Given the description of an element on the screen output the (x, y) to click on. 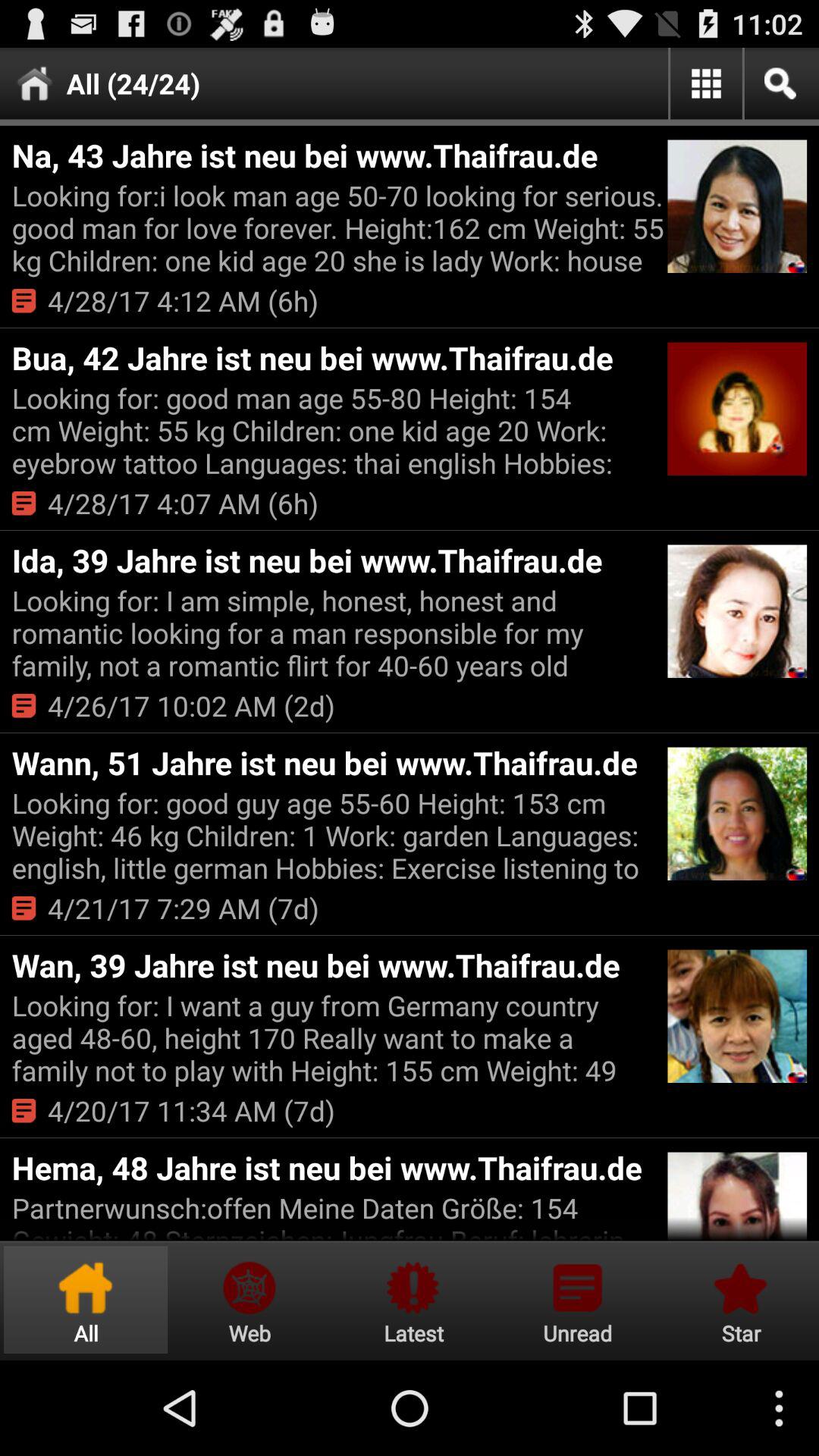
go to the internet (249, 1299)
